Given the description of an element on the screen output the (x, y) to click on. 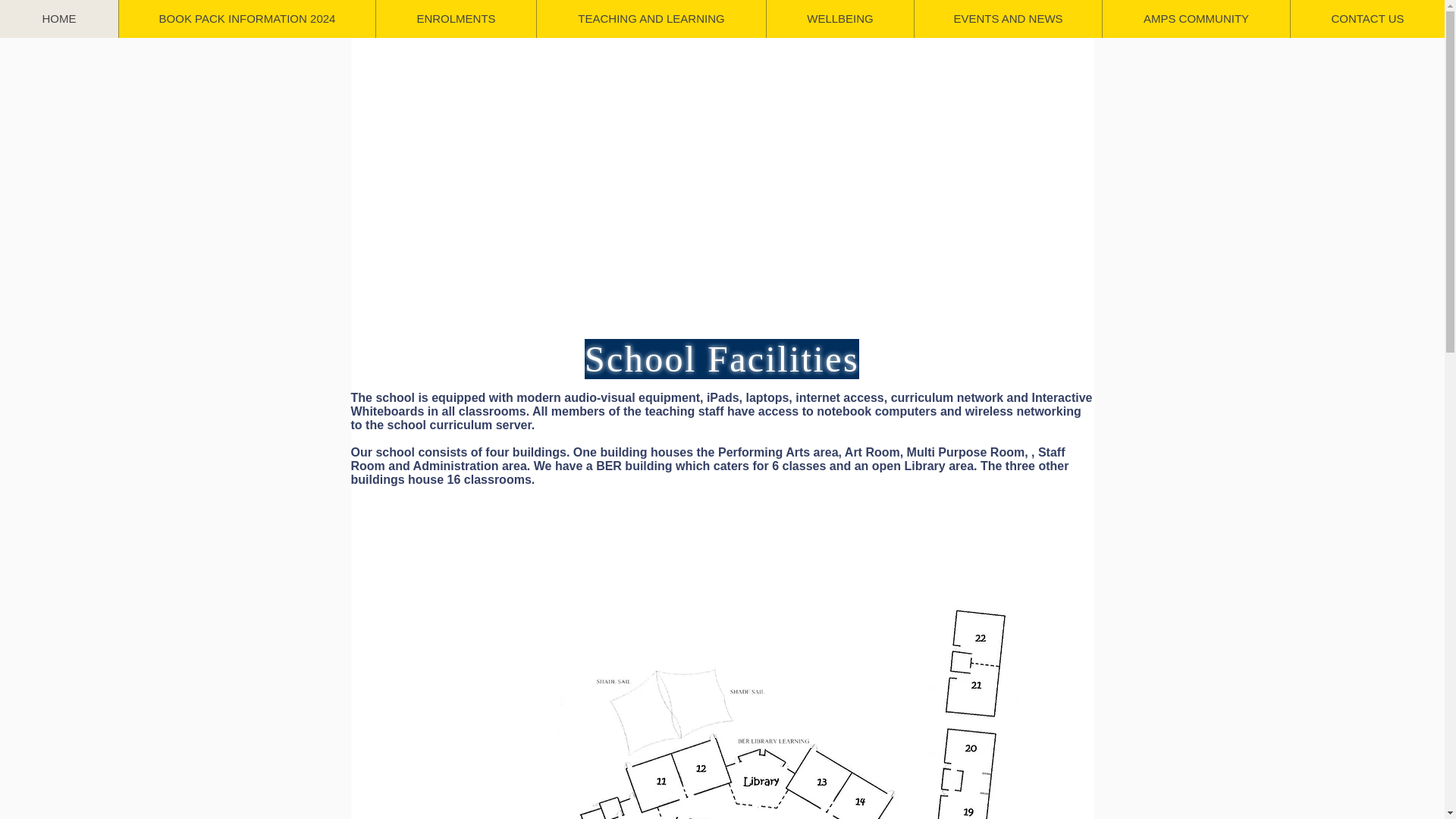
ENROLMENTS (455, 18)
HOME (58, 18)
BOOK PACK INFORMATION 2024 (246, 18)
WELLBEING (839, 18)
